Given the description of an element on the screen output the (x, y) to click on. 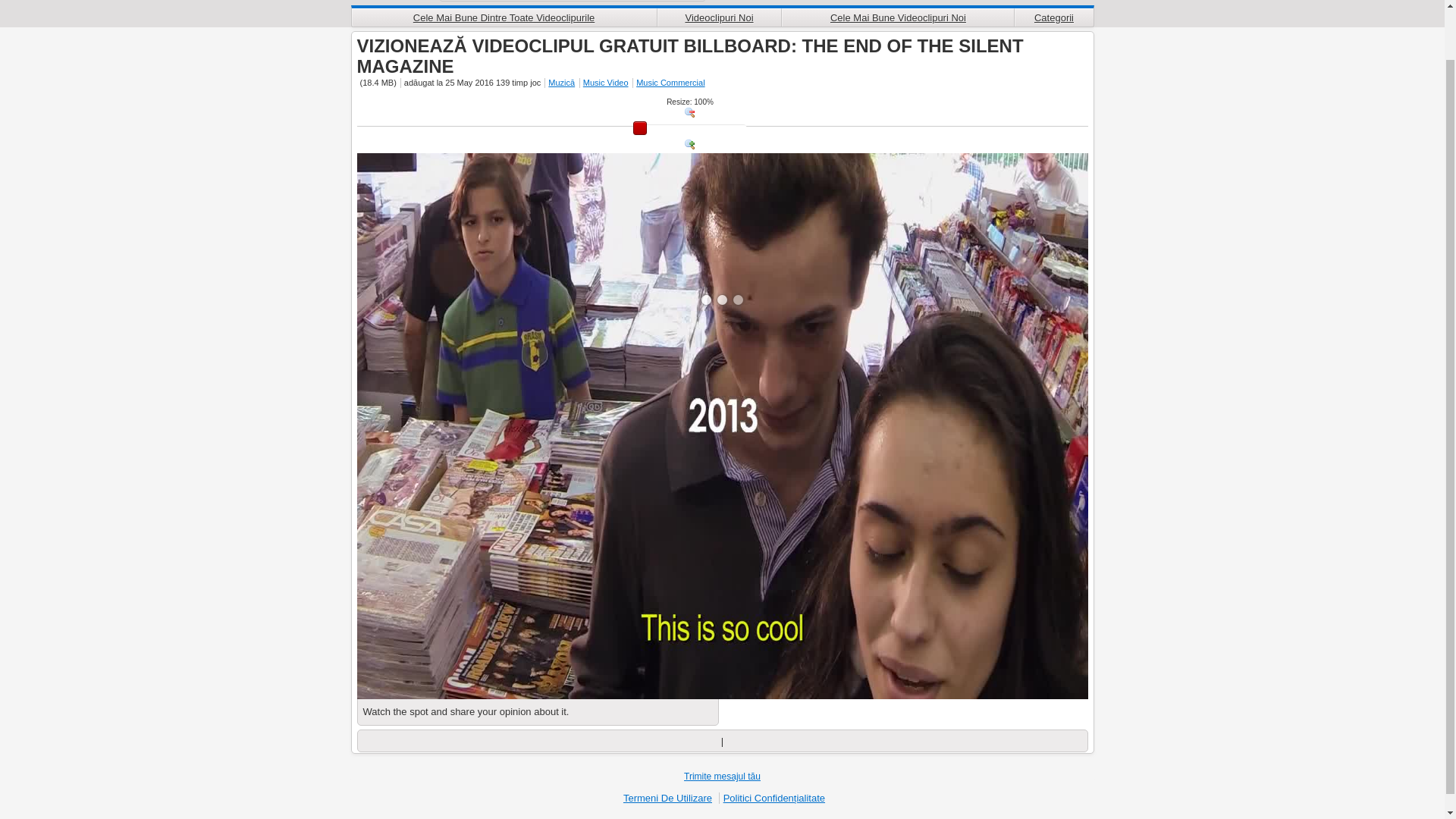
Cele Mai Bune Videoclipuri Noi (896, 17)
Translation missing: ro.controllers.tag.title.animation (604, 82)
Music Video (604, 82)
Categorii (1053, 17)
Translation missing: ro.controllers.tag.title.animation (668, 82)
Translation missing: ro.controllers.tag.title.animation (560, 82)
Music Commercial (668, 82)
Cele Mai Bune Dintre Toate Videoclipurile (504, 17)
Videoclipuri Noi (718, 17)
